Given the description of an element on the screen output the (x, y) to click on. 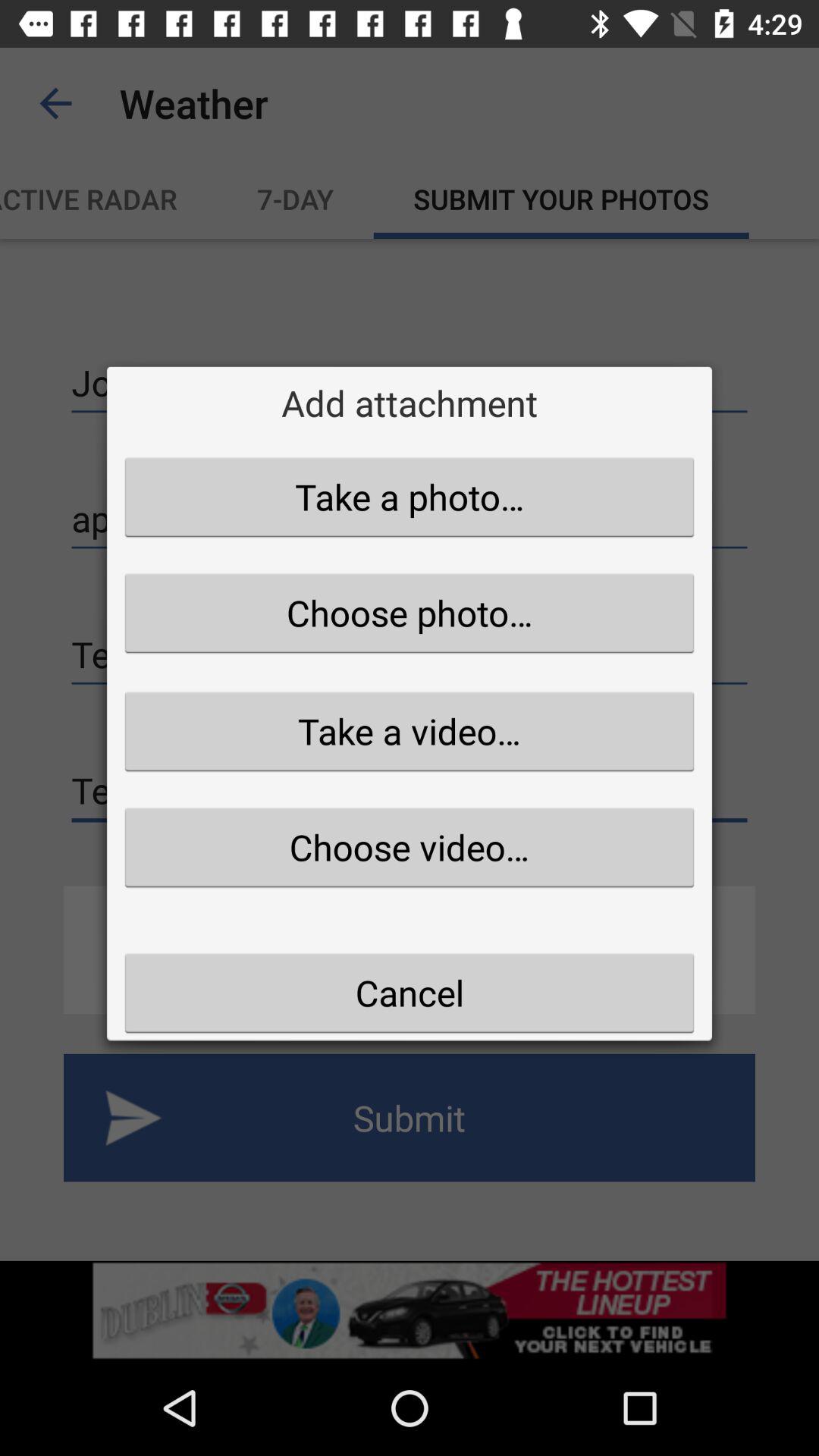
open the cancel icon (409, 992)
